Given the description of an element on the screen output the (x, y) to click on. 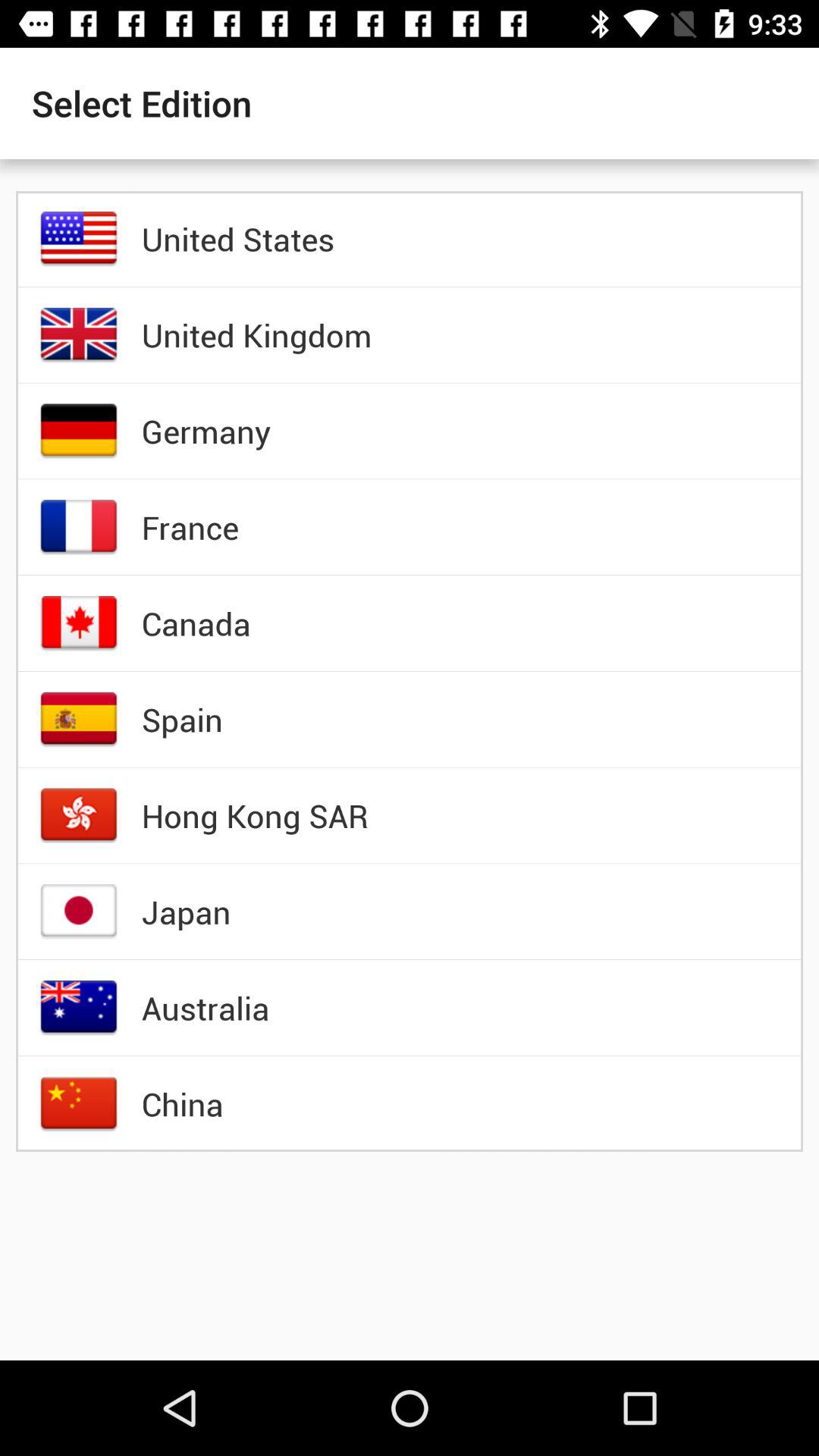
choose hong kong sar (254, 815)
